Given the description of an element on the screen output the (x, y) to click on. 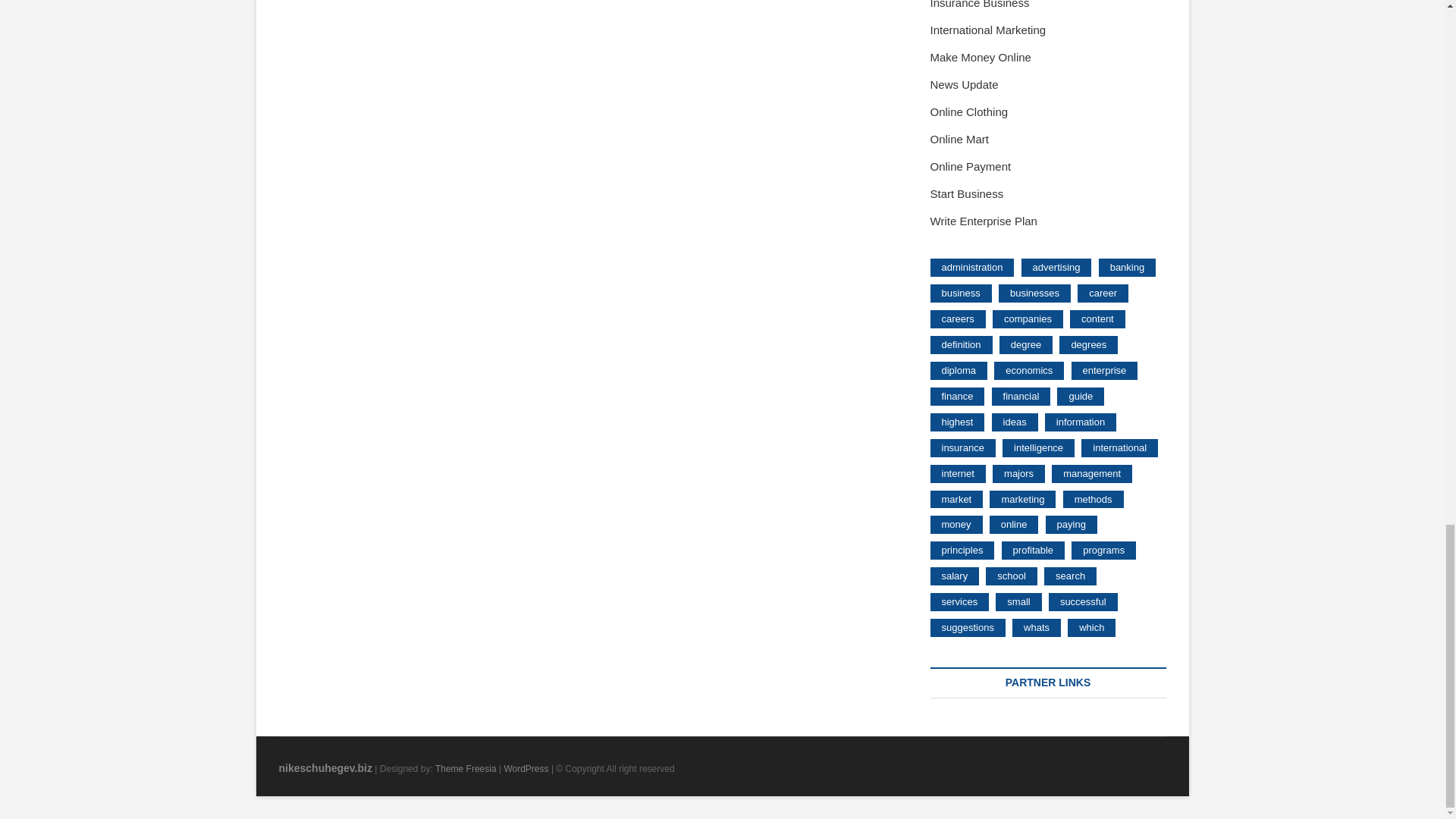
nikeschuhegev.biz (325, 767)
Theme Freesia (465, 768)
WordPress (525, 768)
